Given the description of an element on the screen output the (x, y) to click on. 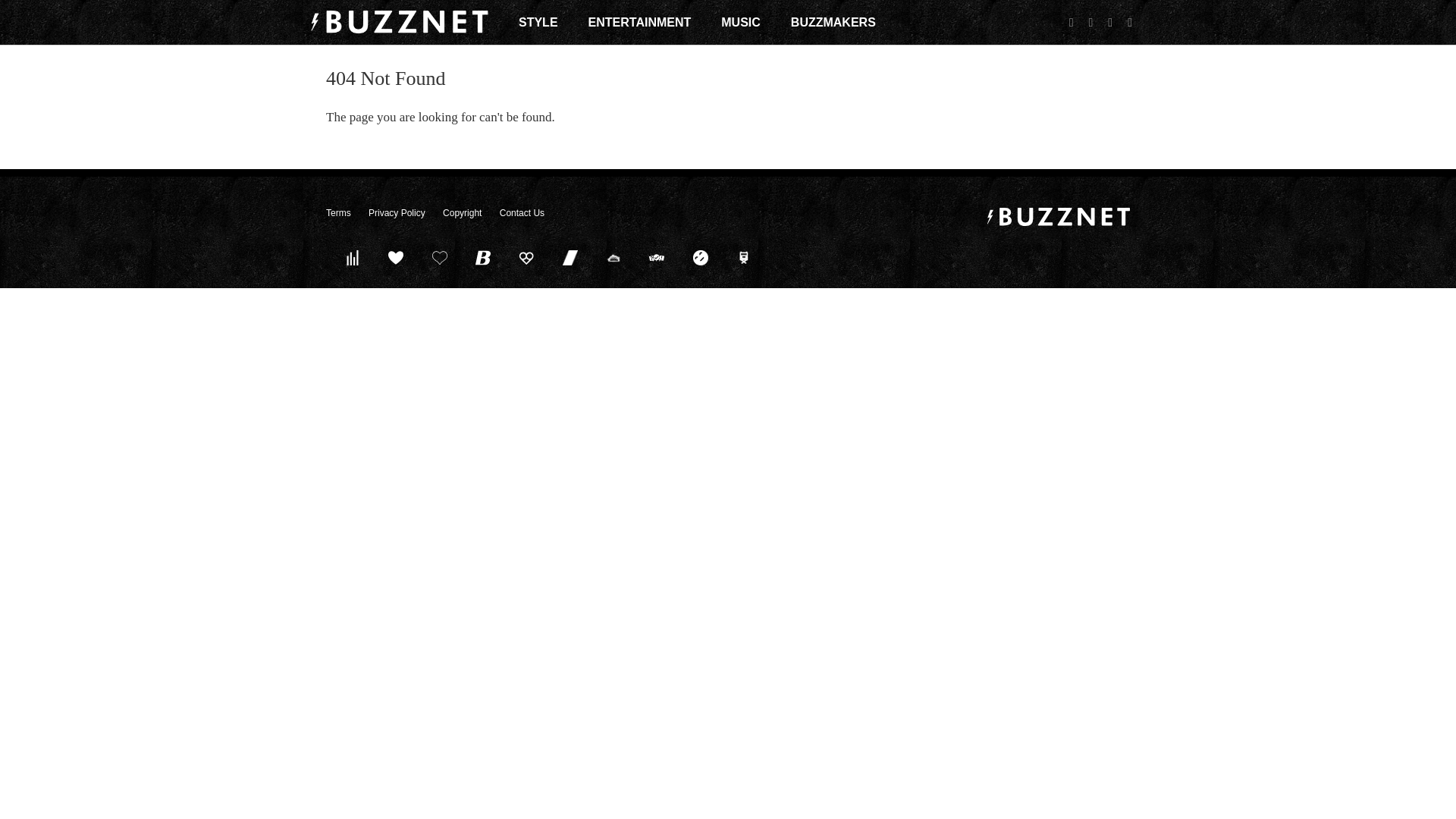
Daily Funny (699, 257)
Idolator (395, 257)
BleacherBreaker (483, 257)
MUSIC (740, 22)
Terms (338, 213)
Explored Hollywood (743, 257)
STYLE (538, 22)
Trend Chaser (570, 257)
Taco Relish (612, 257)
Contact Us (521, 213)
Quizscape (656, 257)
Privacy Policy (396, 213)
Post Fun (439, 257)
Copyright (461, 213)
Hooch (526, 257)
